Given the description of an element on the screen output the (x, y) to click on. 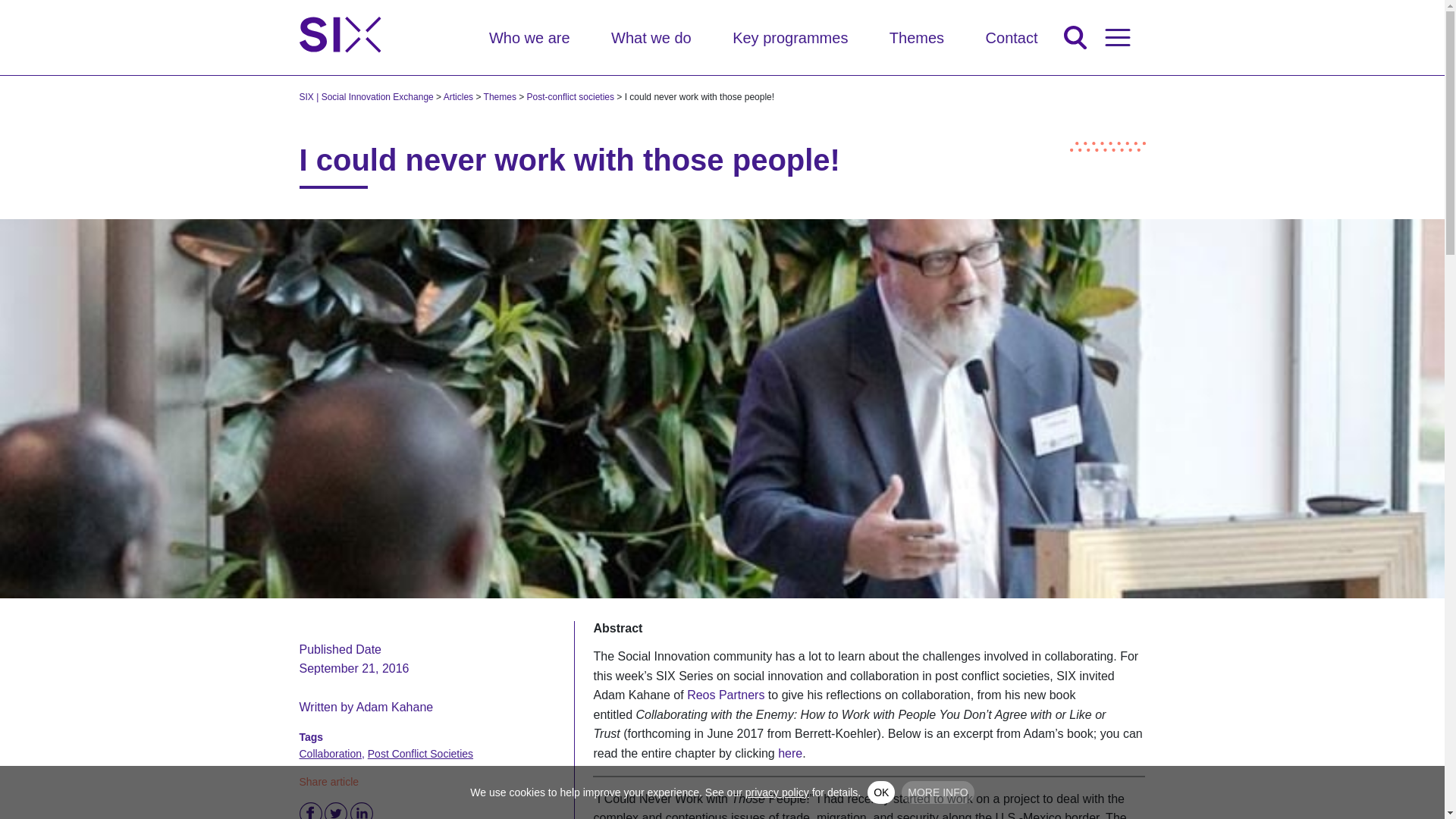
Go to Articles. (458, 96)
Themes (916, 36)
Who we are (529, 36)
What we do (651, 36)
Go to the Post-conflict societies Category archives. (570, 96)
September 21, 2016 (353, 658)
Go to the Themes Category archives. (499, 96)
Contact (1011, 36)
Key programmes (789, 36)
